Given the description of an element on the screen output the (x, y) to click on. 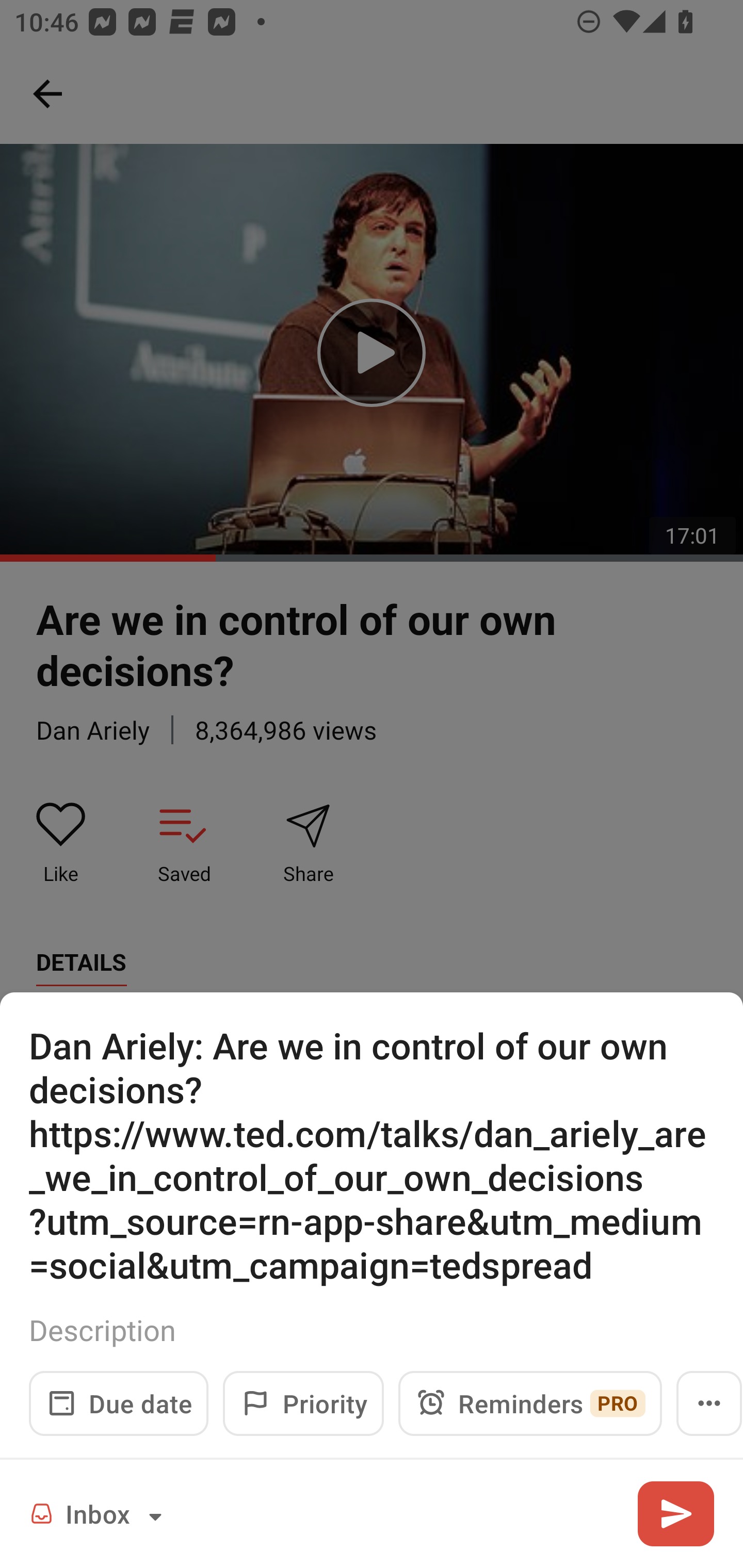
Description (371, 1330)
Due date Date (118, 1403)
Priority (303, 1403)
Reminders PRO Reminders (530, 1403)
Open menu (709, 1403)
Inbox Project (99, 1513)
Add (675, 1513)
